Given the description of an element on the screen output the (x, y) to click on. 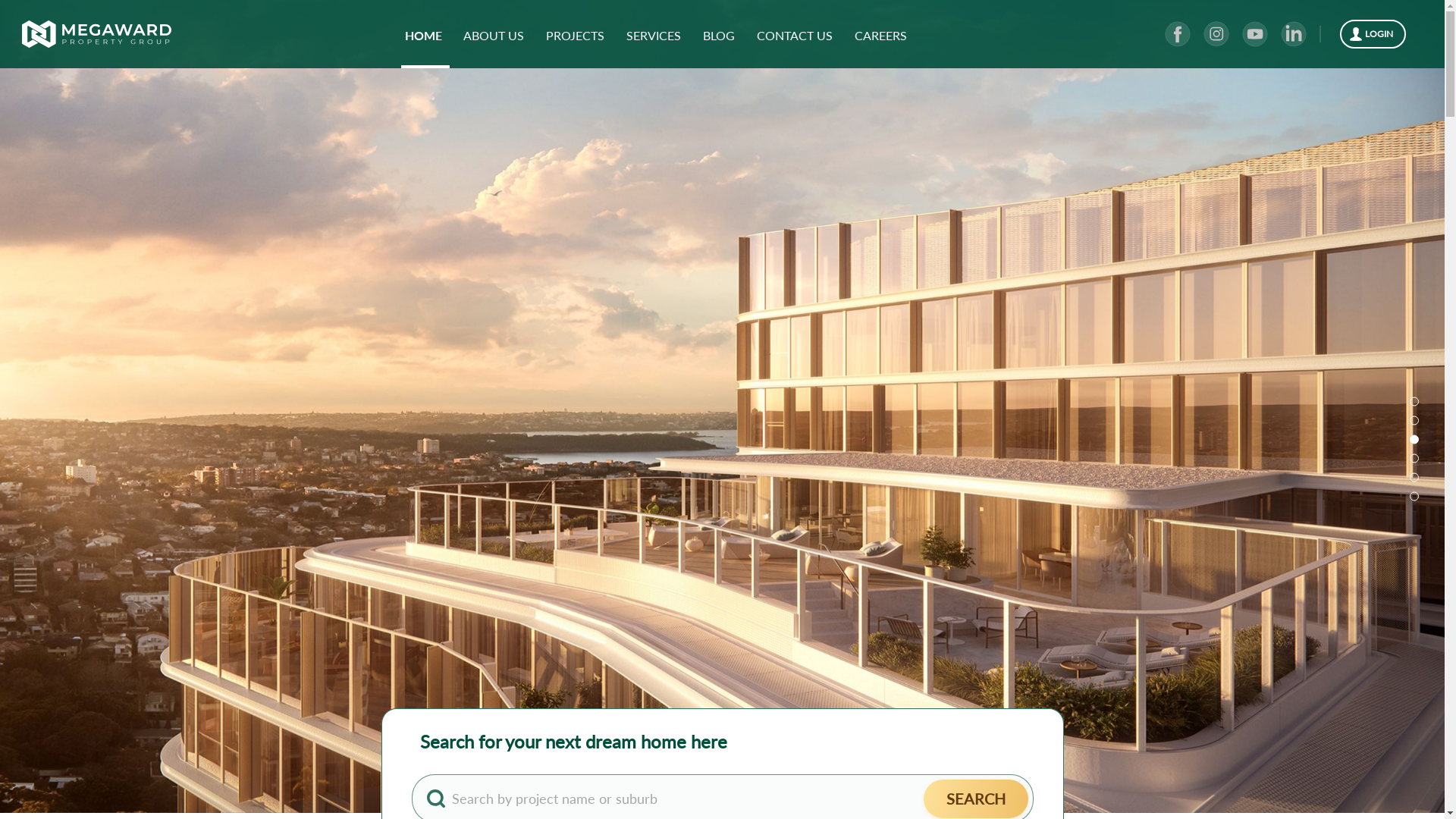
SERVICES Element type: text (653, 34)
BLOG Element type: text (718, 34)
PROJECTS Element type: text (575, 34)
HOME Element type: text (423, 34)
ABOUT US Element type: text (493, 34)
CONTACT US Element type: text (794, 34)
CAREERS Element type: text (880, 34)
